Given the description of an element on the screen output the (x, y) to click on. 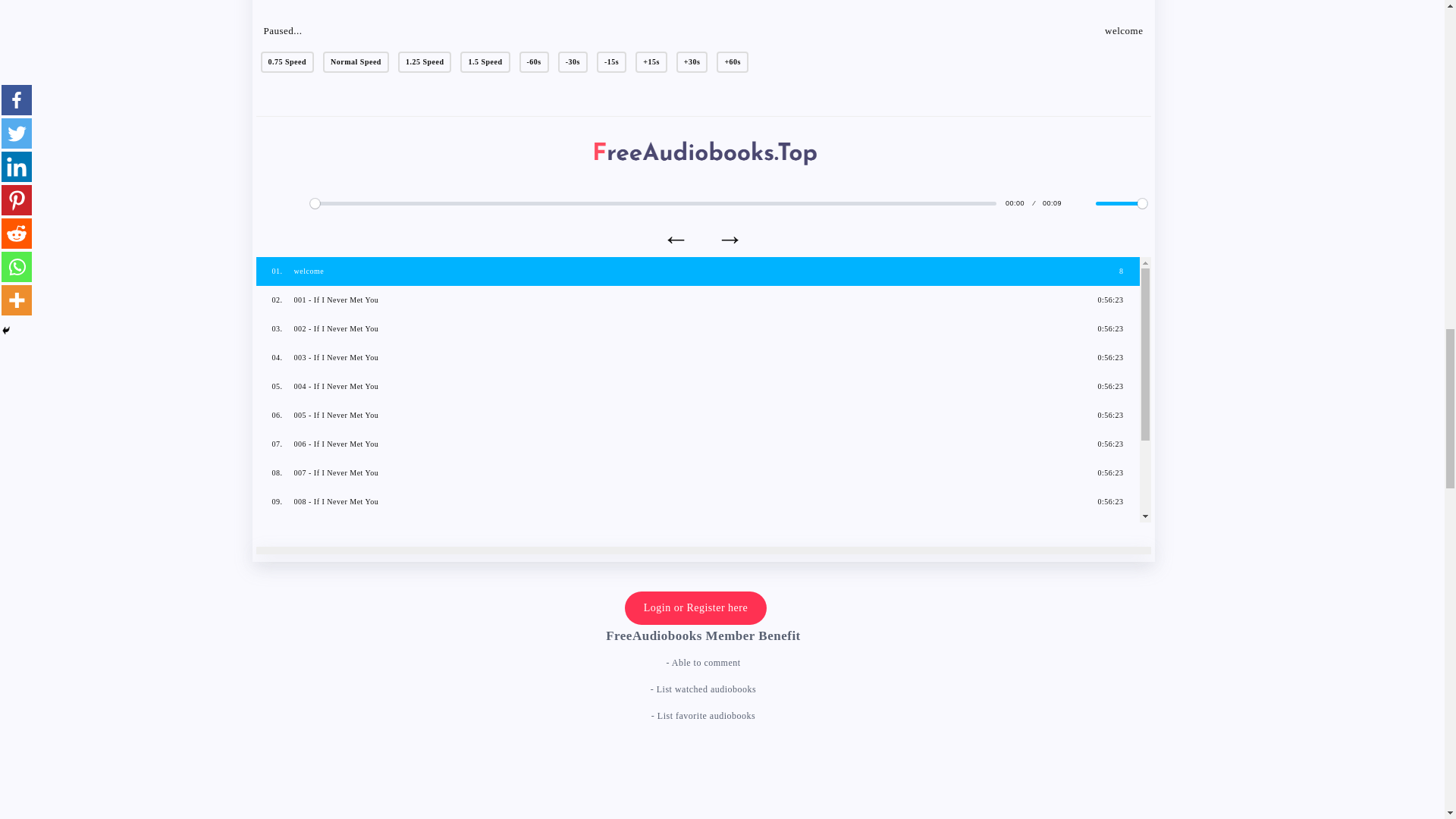
Mute (1079, 203)
1 (1120, 203)
Play (293, 203)
Restart (268, 203)
0 (652, 203)
